Given the description of an element on the screen output the (x, y) to click on. 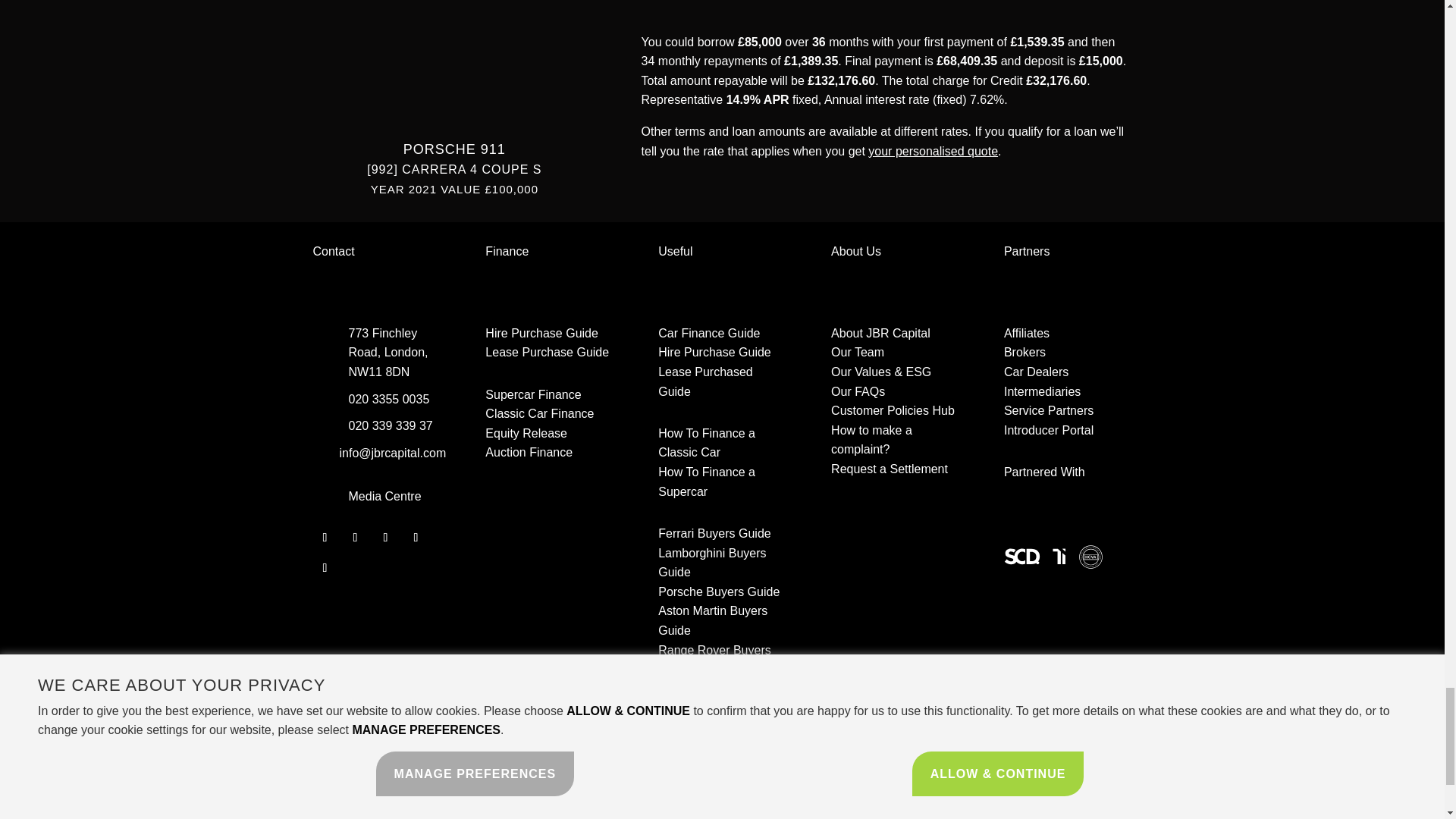
Follow on Youtube (324, 567)
Follow on Twitter (354, 537)
Follow on LinkedIn (384, 537)
Follow on Instagram (415, 537)
Follow on Facebook (324, 537)
